Given the description of an element on the screen output the (x, y) to click on. 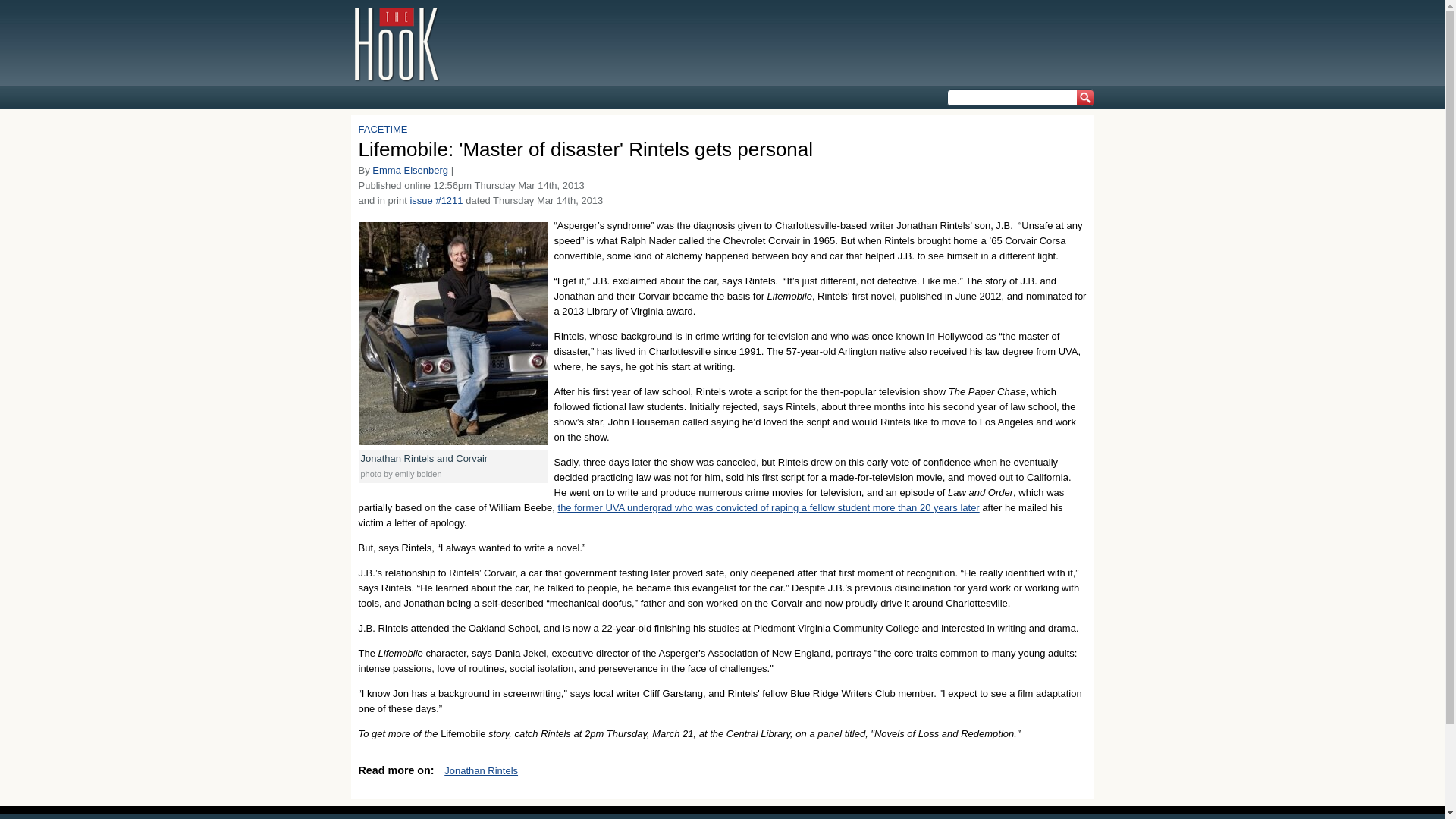
Jonathan Rintels (481, 770)
The Hook - Charlottesville's weekly newspaper, news magazine (397, 43)
Enter the terms you wish to search for. (1019, 97)
Emma Eisenberg (410, 170)
Search (1082, 102)
FACETIME (382, 129)
Search (1082, 102)
